Given the description of an element on the screen output the (x, y) to click on. 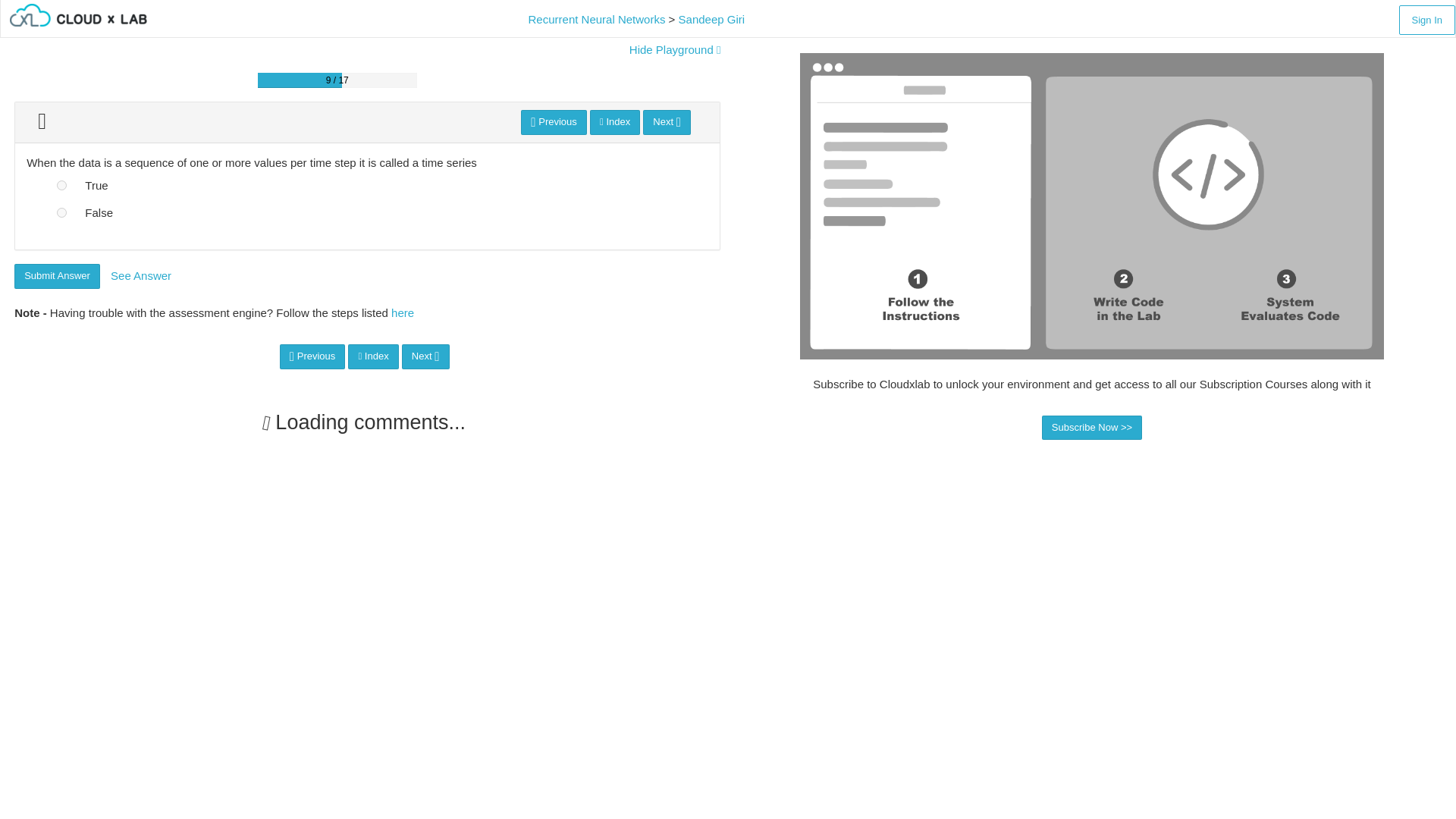
Submit Answer (57, 276)
Previous (553, 122)
Index (372, 356)
6161 (61, 185)
Previous (312, 356)
Recurrent Neural Networks (596, 19)
Sign In (1426, 19)
Index (614, 122)
6162 (61, 212)
here (402, 312)
